Given the description of an element on the screen output the (x, y) to click on. 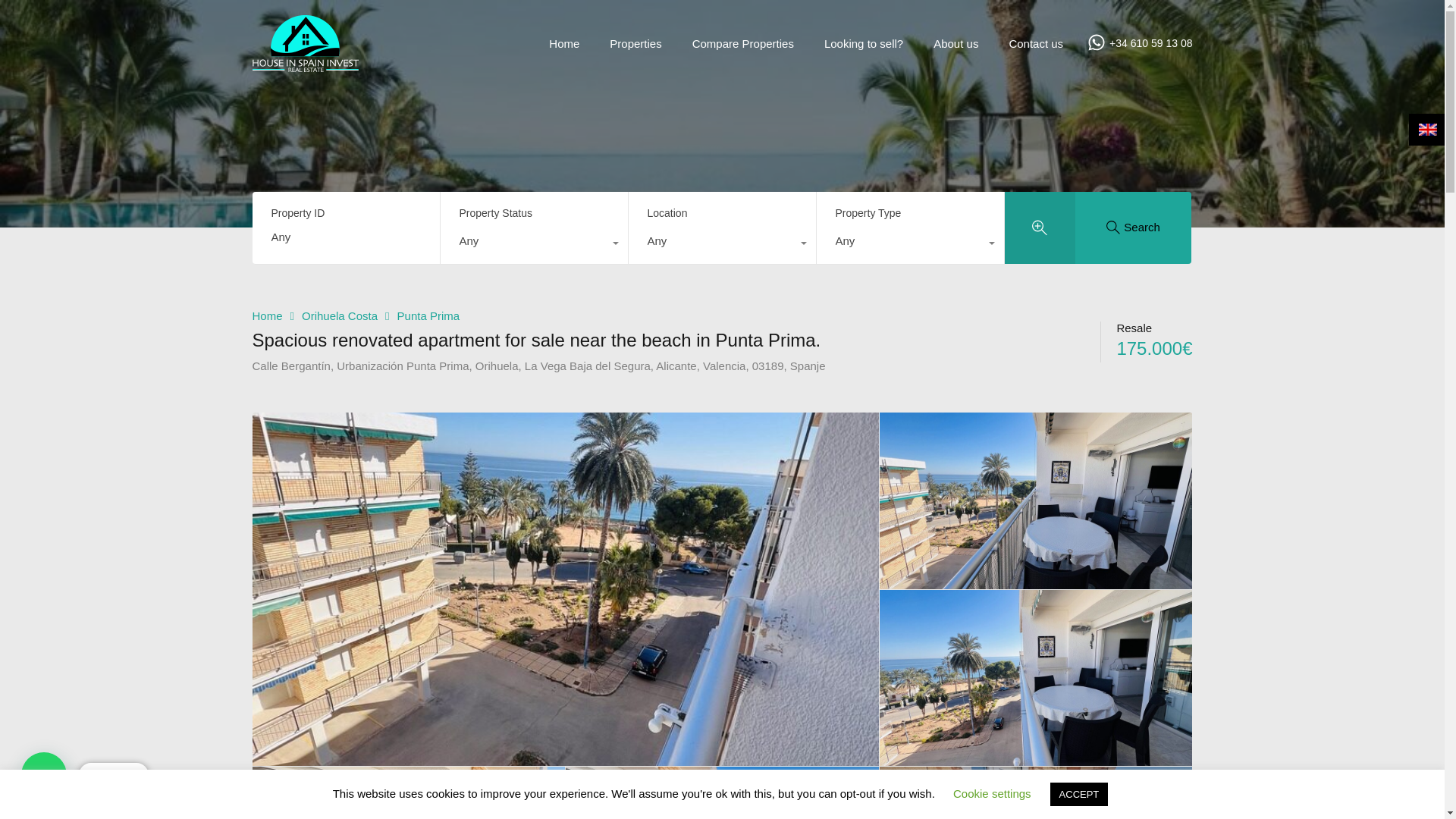
About us (955, 43)
Any (721, 244)
Any (909, 244)
Search (1133, 226)
Any (533, 244)
Looking to sell? (862, 43)
Home (266, 315)
Any (909, 244)
Home (563, 43)
Any (721, 244)
Contact us (1035, 43)
Compare Properties (742, 43)
Properties (635, 43)
Orihuela Costa (339, 315)
Any (533, 244)
